Given the description of an element on the screen output the (x, y) to click on. 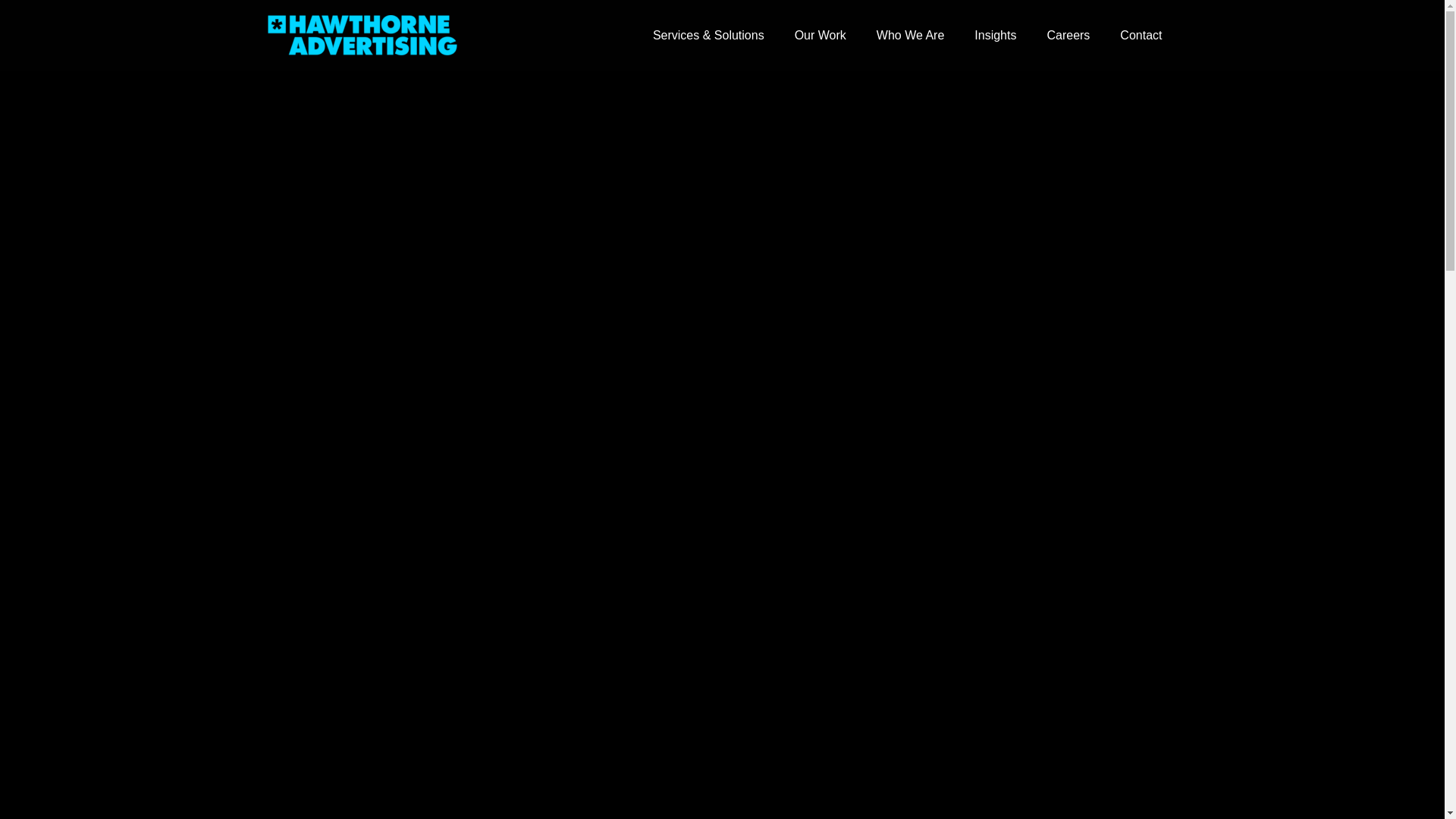
Our Work (819, 34)
Insights (994, 34)
Careers (1067, 34)
Who We Are (910, 34)
Contact (1140, 34)
